Given the description of an element on the screen output the (x, y) to click on. 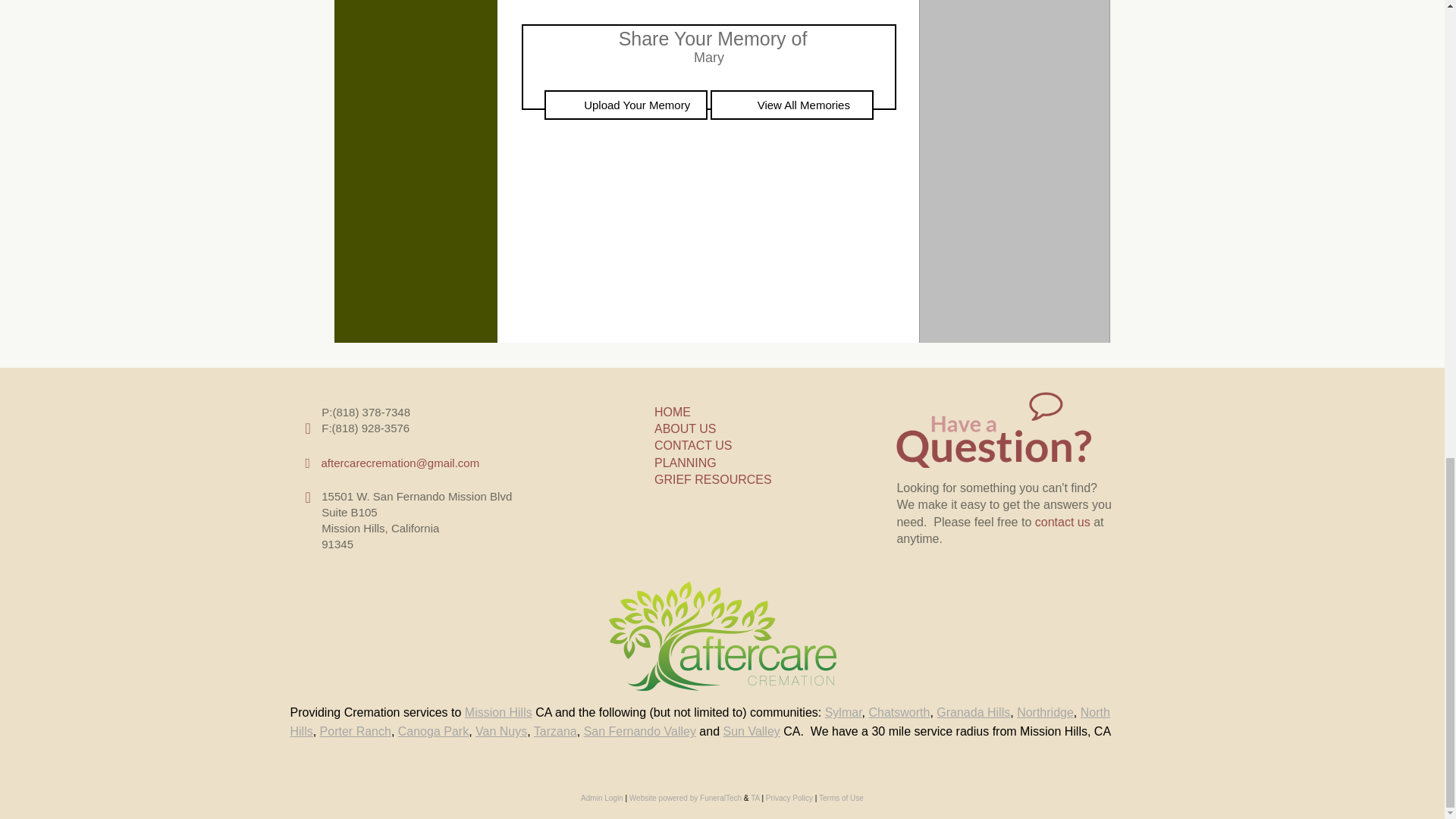
GRIEF RESOURCES (712, 479)
PLANNING (684, 462)
ABOUT US (684, 428)
View All Memories (791, 104)
HOME (671, 411)
Upload Your Memory (625, 104)
CONTACT US (692, 445)
